Given the description of an element on the screen output the (x, y) to click on. 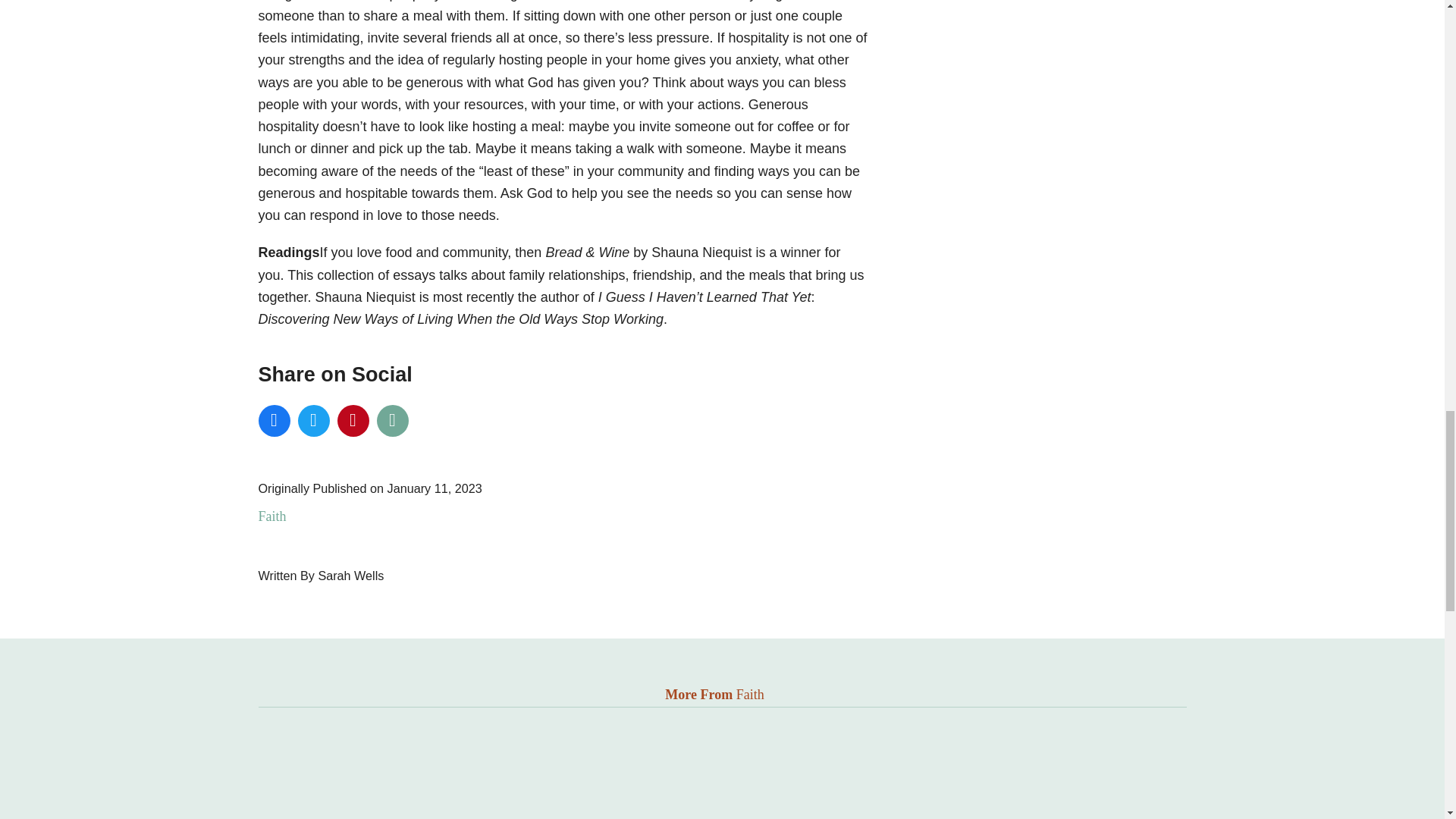
Faith (750, 694)
Sarah Wells (350, 575)
Share via Email (391, 420)
Faith (271, 516)
Share on Twitter (313, 420)
Share on Pinterest (352, 420)
Share on Facebook (273, 420)
